Given the description of an element on the screen output the (x, y) to click on. 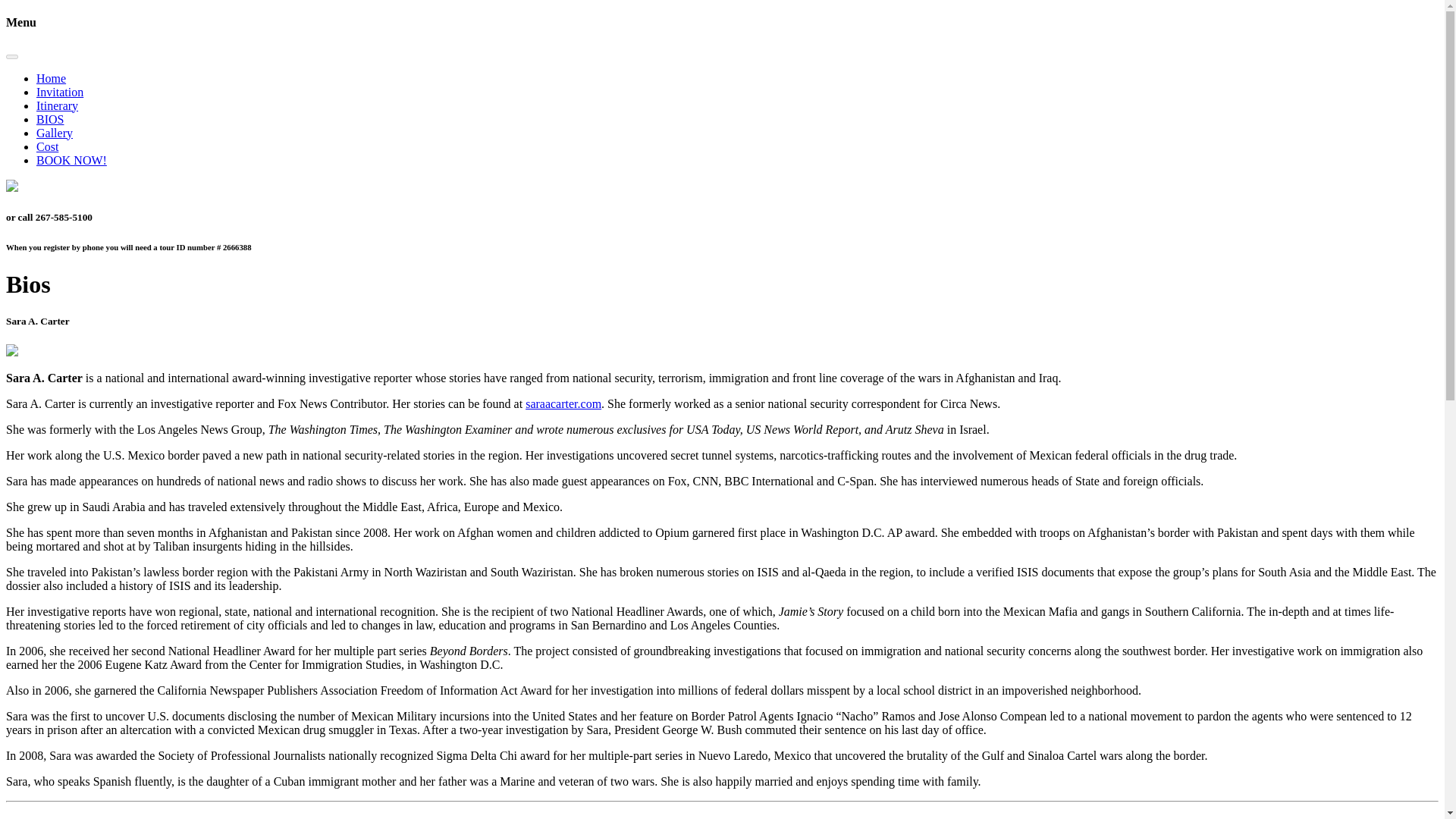
Invitation (59, 91)
Gallery (54, 132)
Home (50, 78)
saraacarter.com (563, 403)
Cost (47, 146)
Itinerary (57, 105)
BIOS (50, 119)
BOOK NOW! (71, 160)
